Given the description of an element on the screen output the (x, y) to click on. 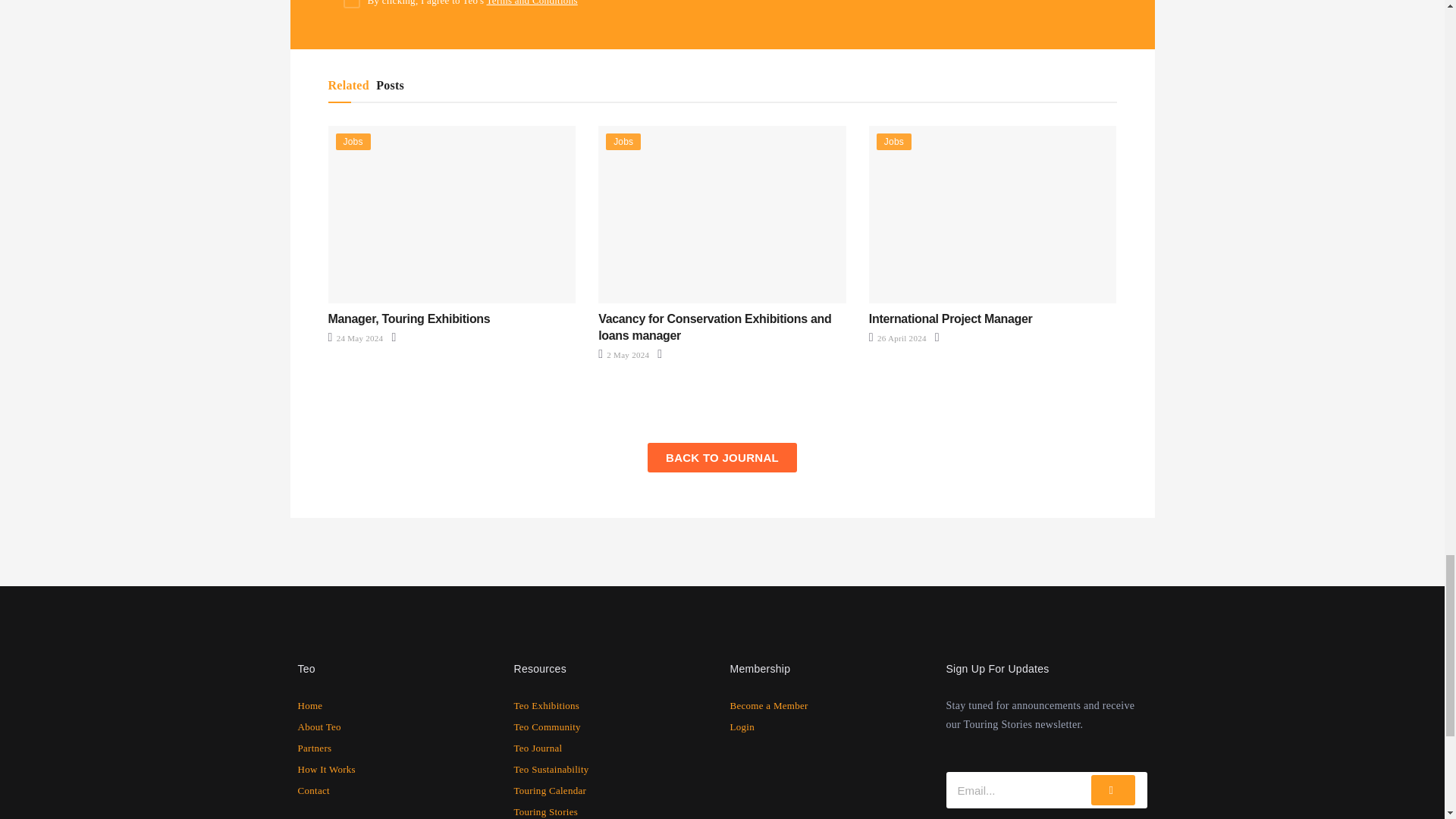
Manager, Touring Exhibitions (408, 318)
24 May 2024 (354, 338)
Terms and Conditions (532, 2)
Jobs (351, 141)
